Given the description of an element on the screen output the (x, y) to click on. 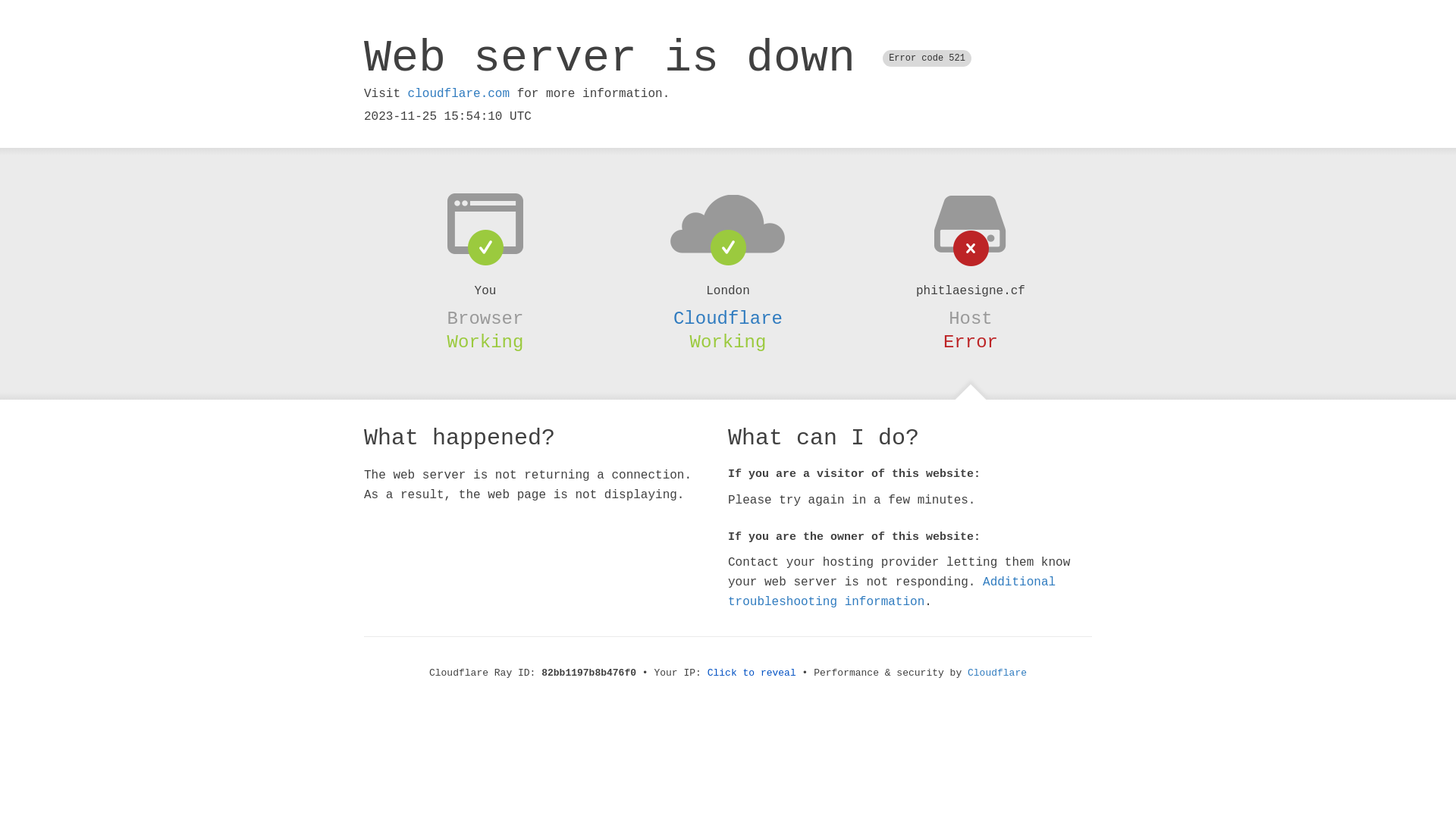
Additional troubleshooting information Element type: text (891, 591)
Cloudflare Element type: text (996, 672)
cloudflare.com Element type: text (458, 93)
Cloudflare Element type: text (727, 318)
Click to reveal Element type: text (751, 672)
